Given the description of an element on the screen output the (x, y) to click on. 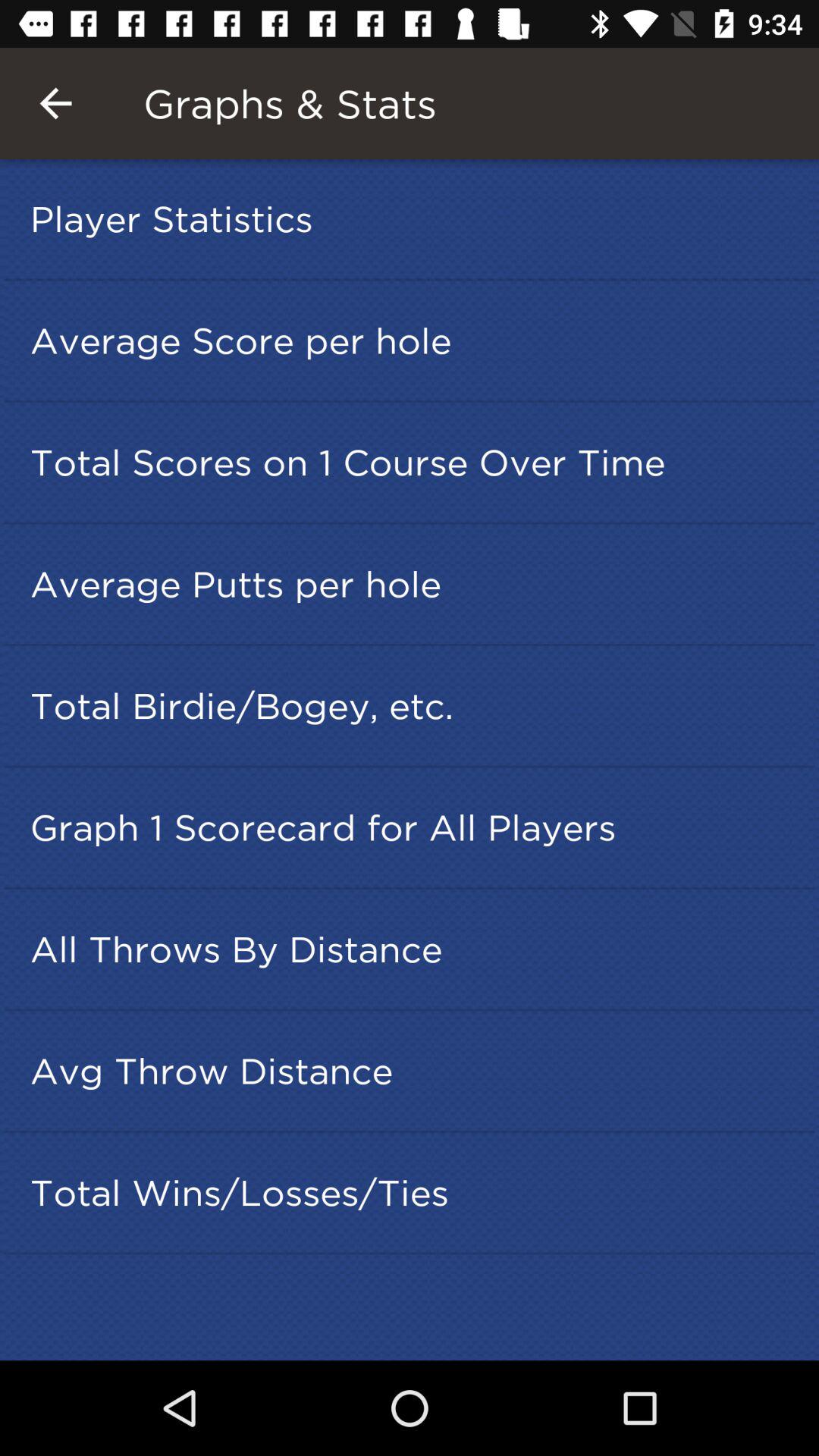
click item below graph 1 scorecard item (414, 949)
